Given the description of an element on the screen output the (x, y) to click on. 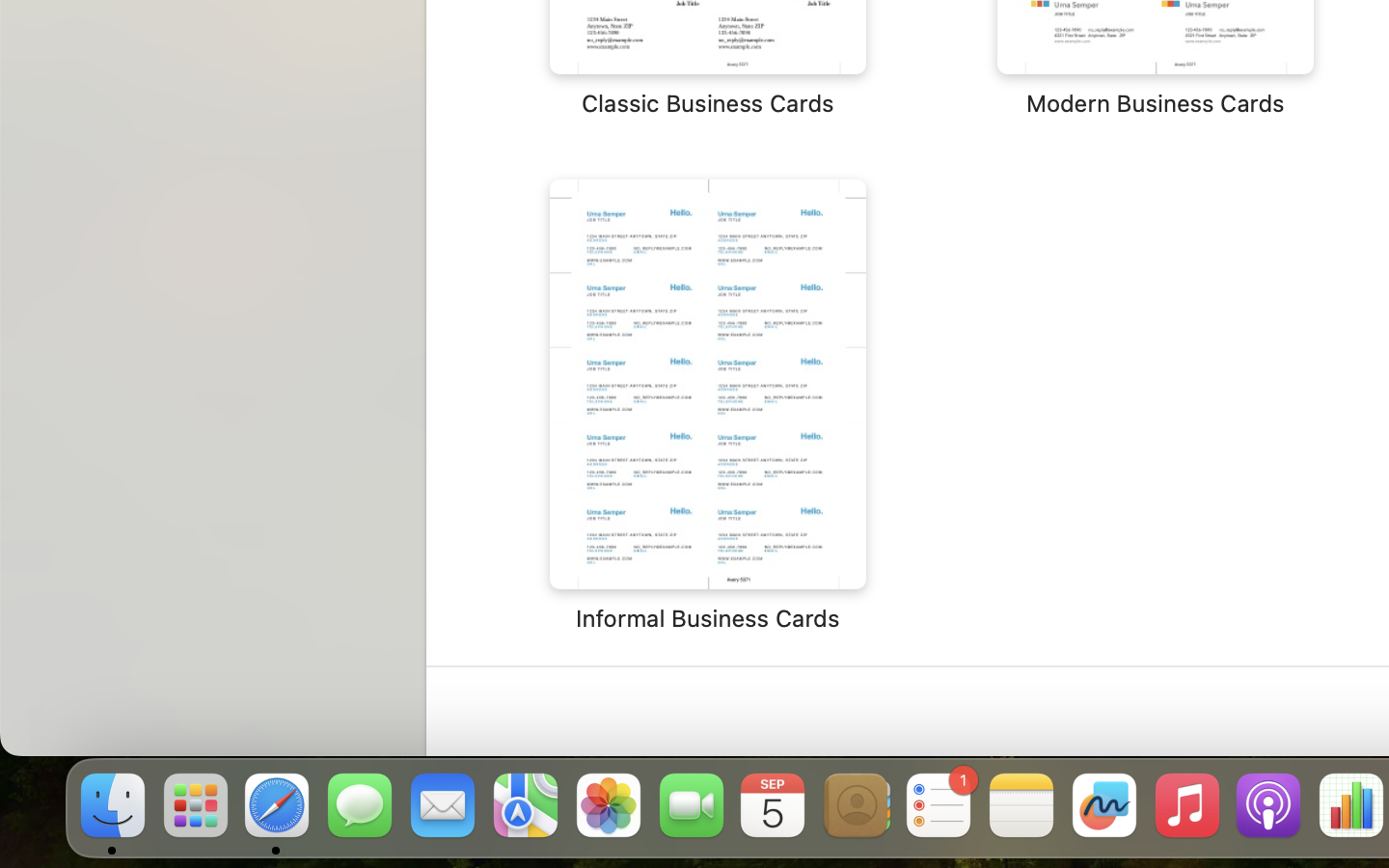
‎⁨Informal Business Cards⁩ Element type: AXButton (707, 405)
